Given the description of an element on the screen output the (x, y) to click on. 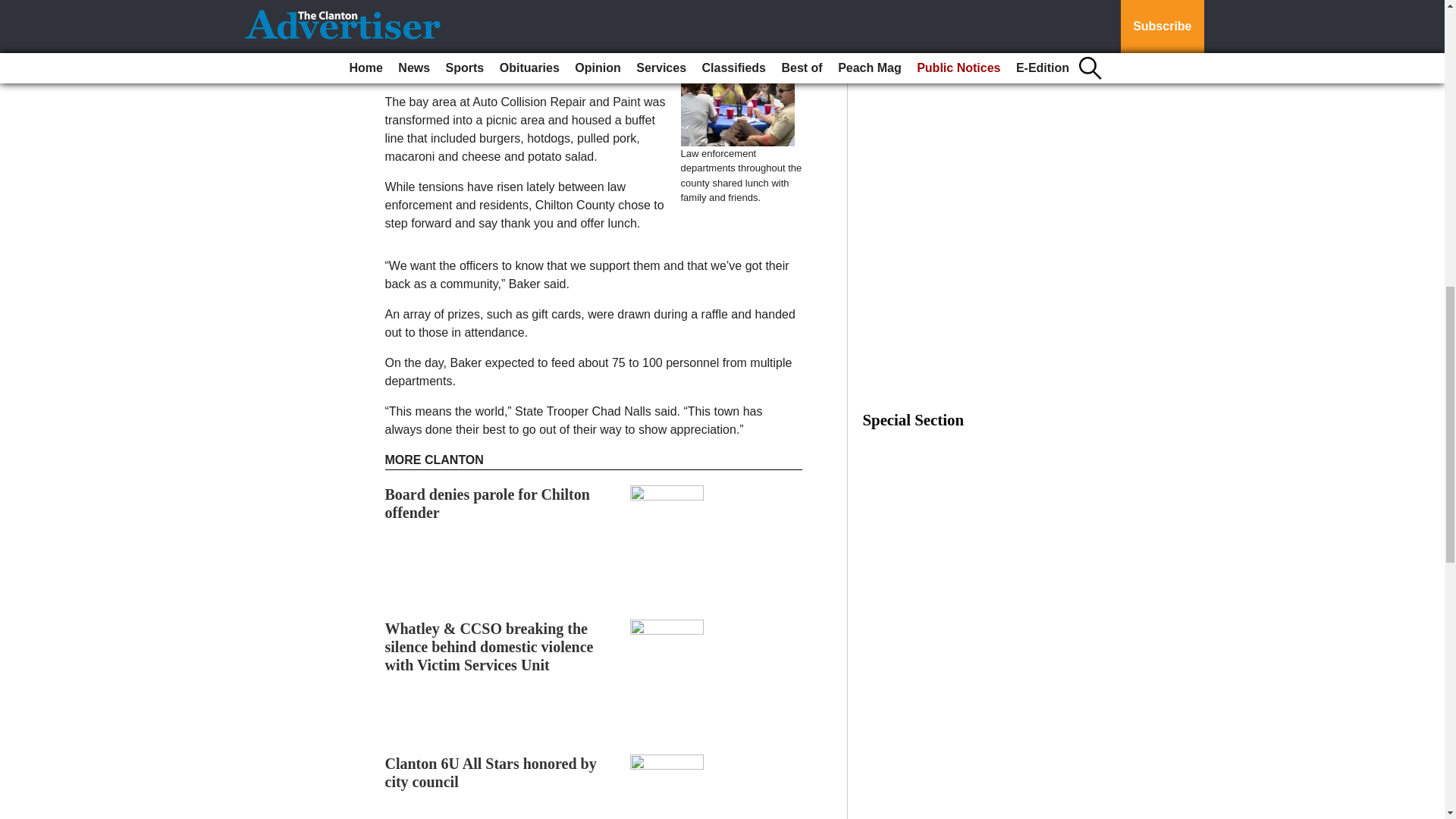
Clanton 6U All Stars honored by city council (490, 772)
Clanton 6U All Stars honored by city council (490, 772)
Board denies parole for Chilton offender (487, 503)
Board denies parole for Chilton offender (487, 503)
